Given the description of an element on the screen output the (x, y) to click on. 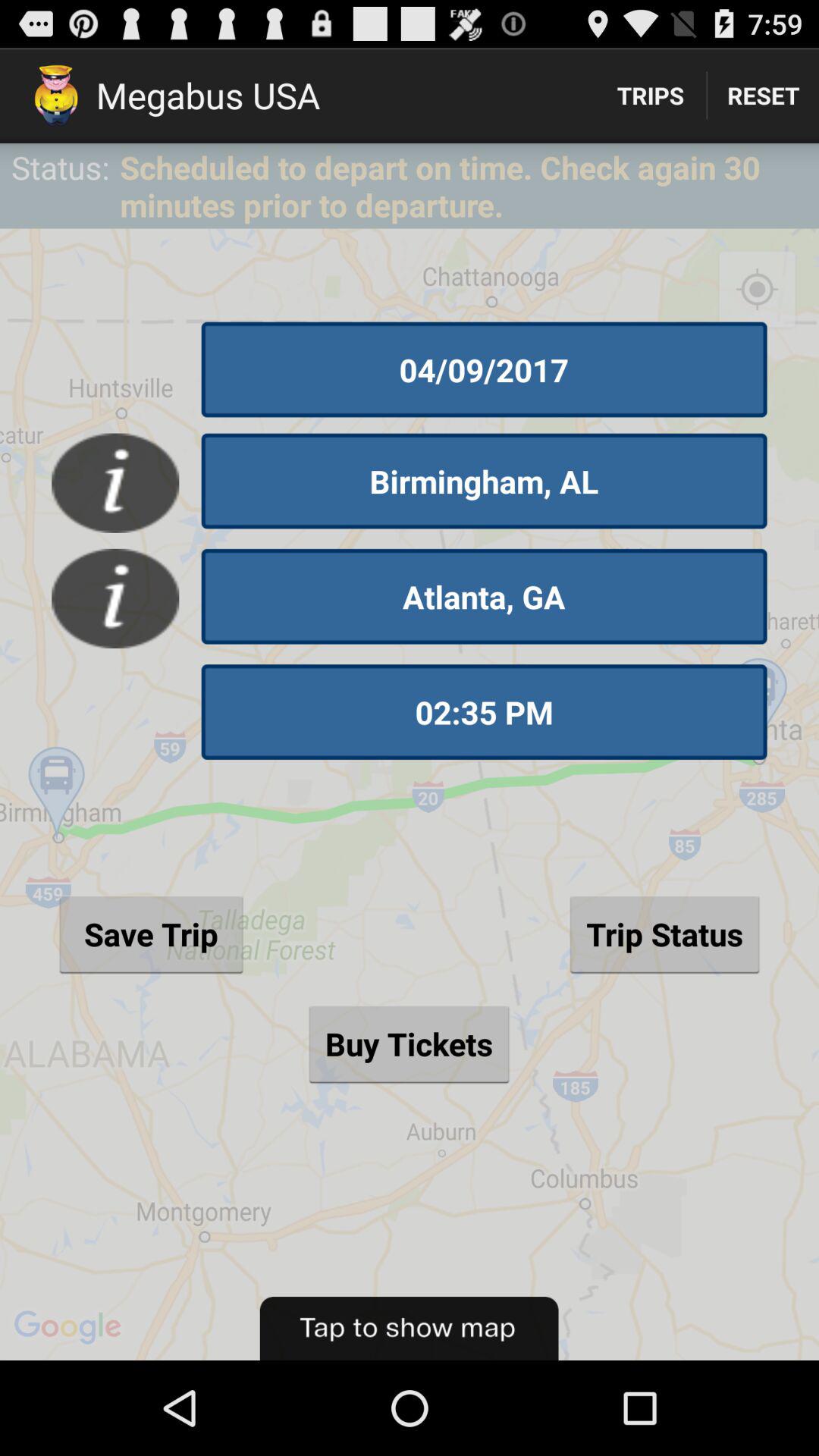
choose reset icon (763, 95)
